Given the description of an element on the screen output the (x, y) to click on. 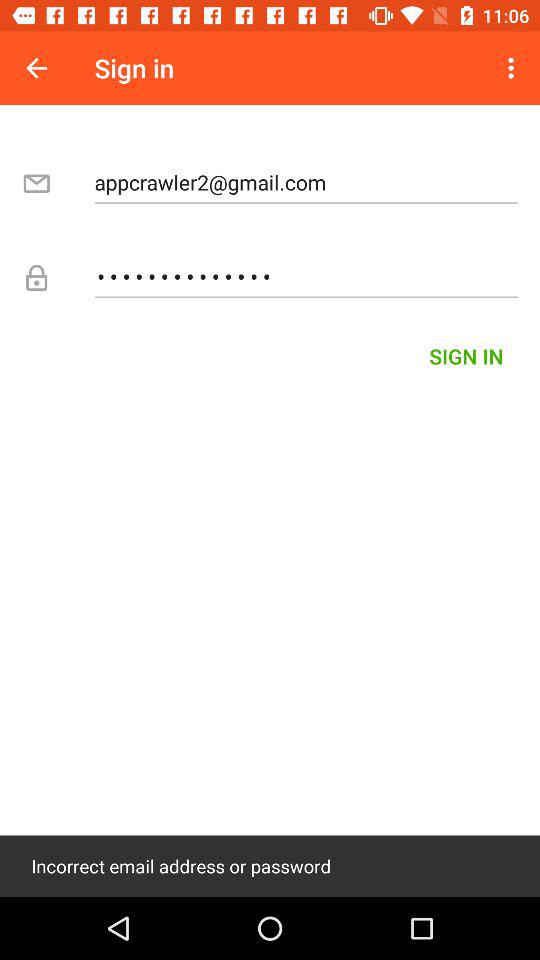
turn off the icon below the sign in (306, 181)
